Given the description of an element on the screen output the (x, y) to click on. 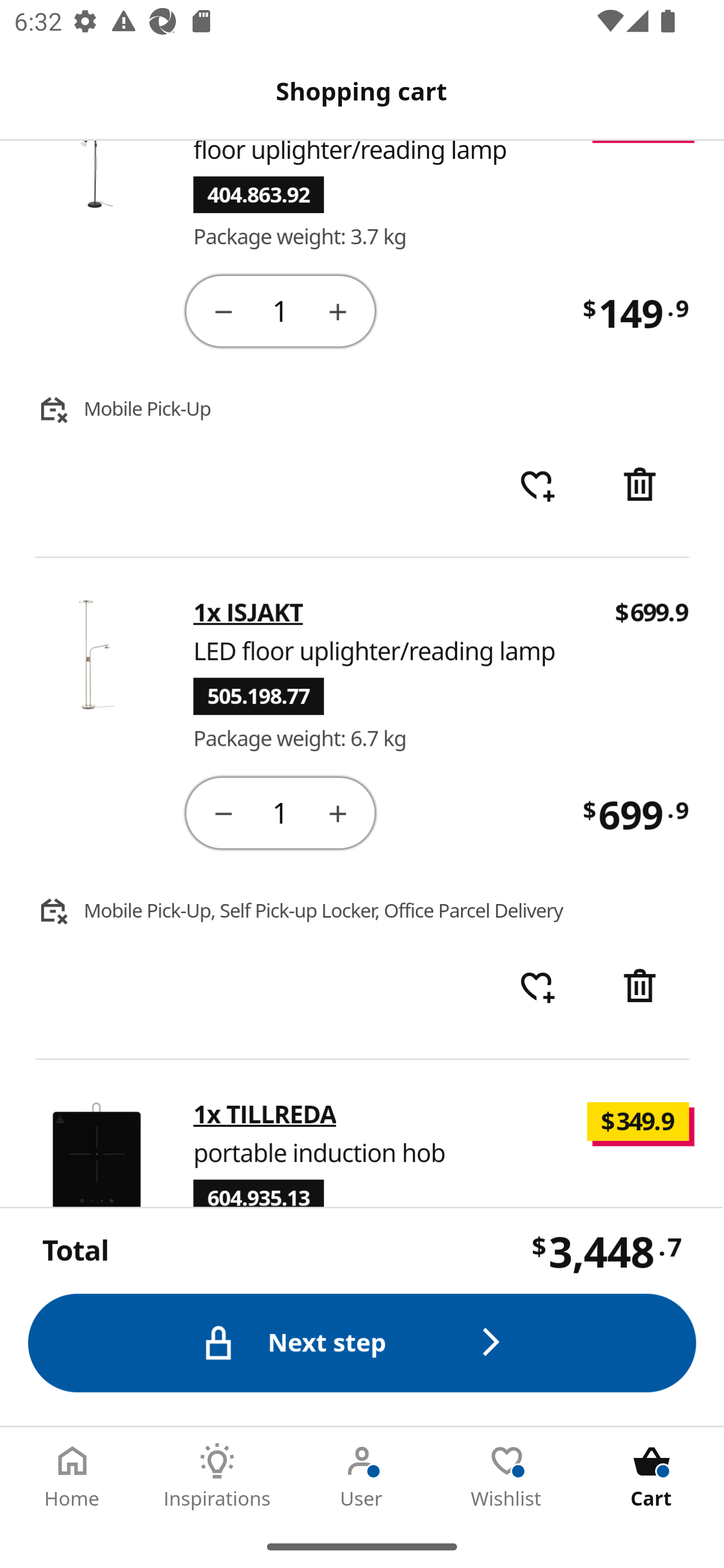
1 (281, 312)
 (223, 312)
 (338, 312)
  (536, 487)
 (641, 487)
1x  ISJAKT 1x  ISJAKT (248, 614)
1 (281, 814)
 (223, 813)
 (338, 813)
  (536, 989)
 (641, 989)
1x  TILLREDA 1x  TILLREDA (265, 1116)
Home
Tab 1 of 5 (72, 1476)
Inspirations
Tab 2 of 5 (216, 1476)
User
Tab 3 of 5 (361, 1476)
Wishlist
Tab 4 of 5 (506, 1476)
Cart
Tab 5 of 5 (651, 1476)
